Given the description of an element on the screen output the (x, y) to click on. 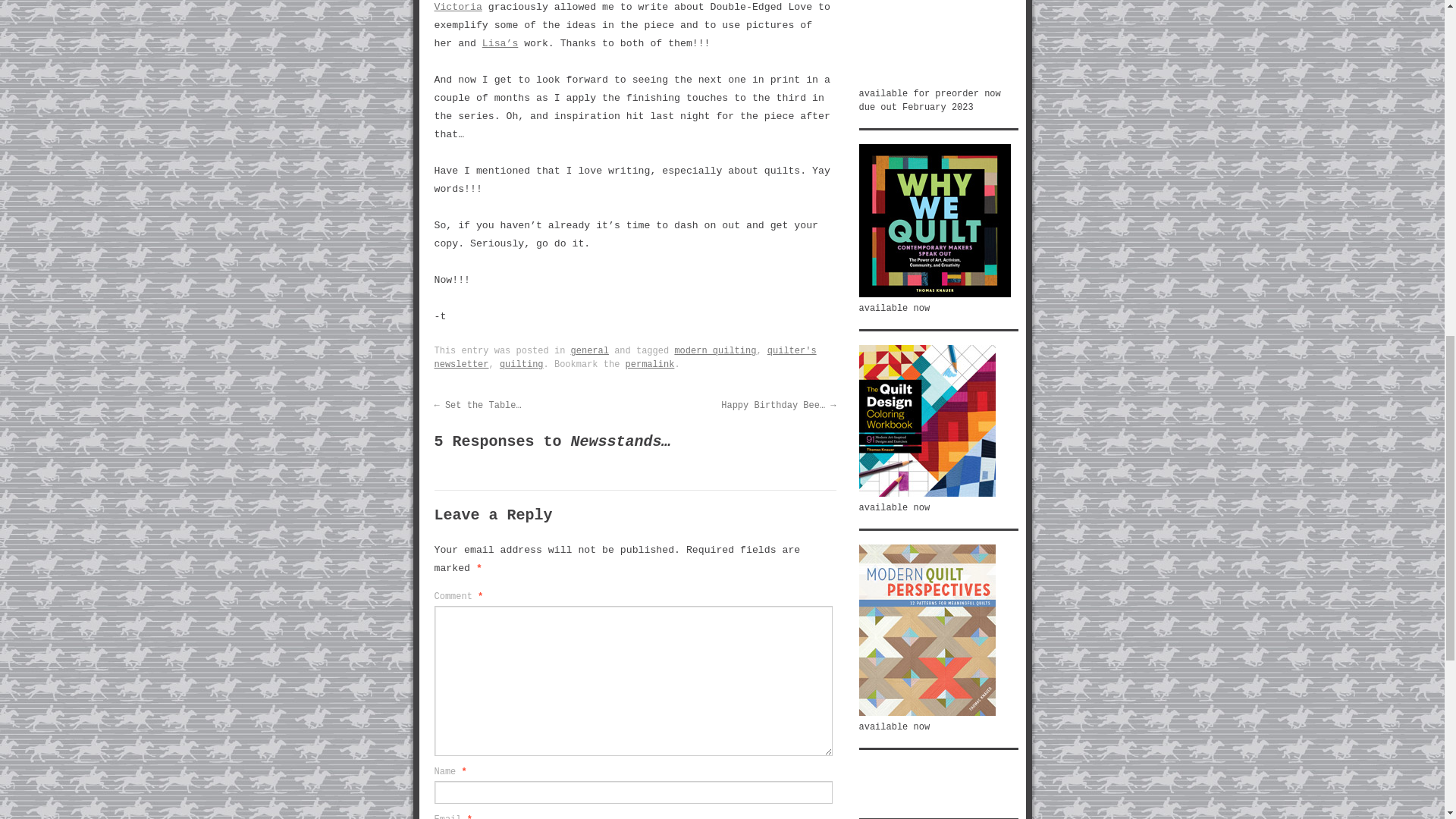
quilting (521, 364)
general (589, 350)
Victoria (457, 7)
modern quilting (714, 350)
permalink (650, 364)
quilter's newsletter (624, 357)
